Given the description of an element on the screen output the (x, y) to click on. 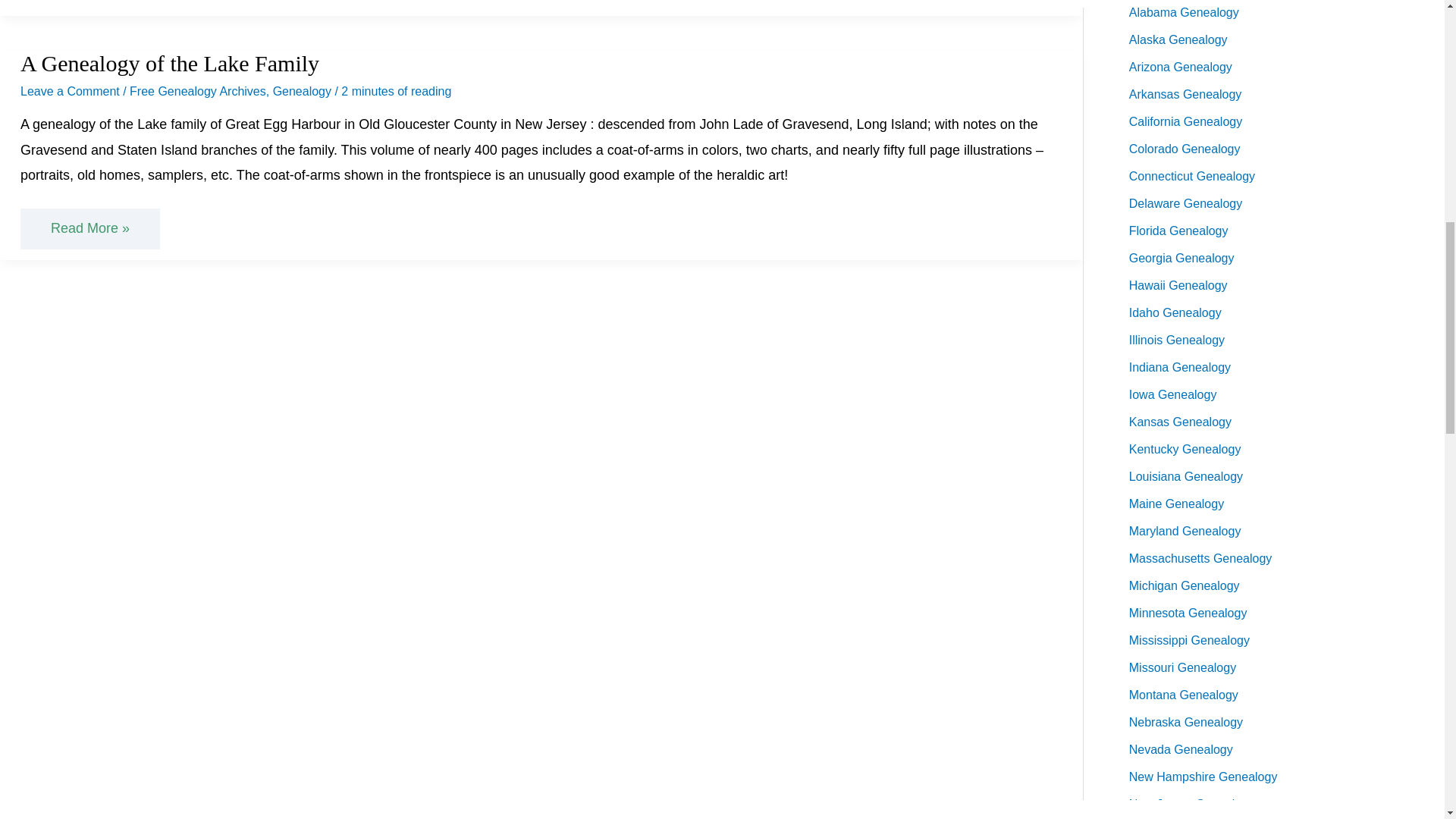
A Genealogy of the Lake Family (169, 63)
Illinois Genealogy (1176, 339)
Genealogy (302, 91)
Leave a Comment (69, 91)
Florida Genealogy (1178, 230)
Arkansas Genealogy (1185, 93)
Colorado Genealogy (1184, 148)
Georgia Genealogy (1181, 257)
Arizona Genealogy (1180, 66)
California Genealogy (1185, 121)
